Given the description of an element on the screen output the (x, y) to click on. 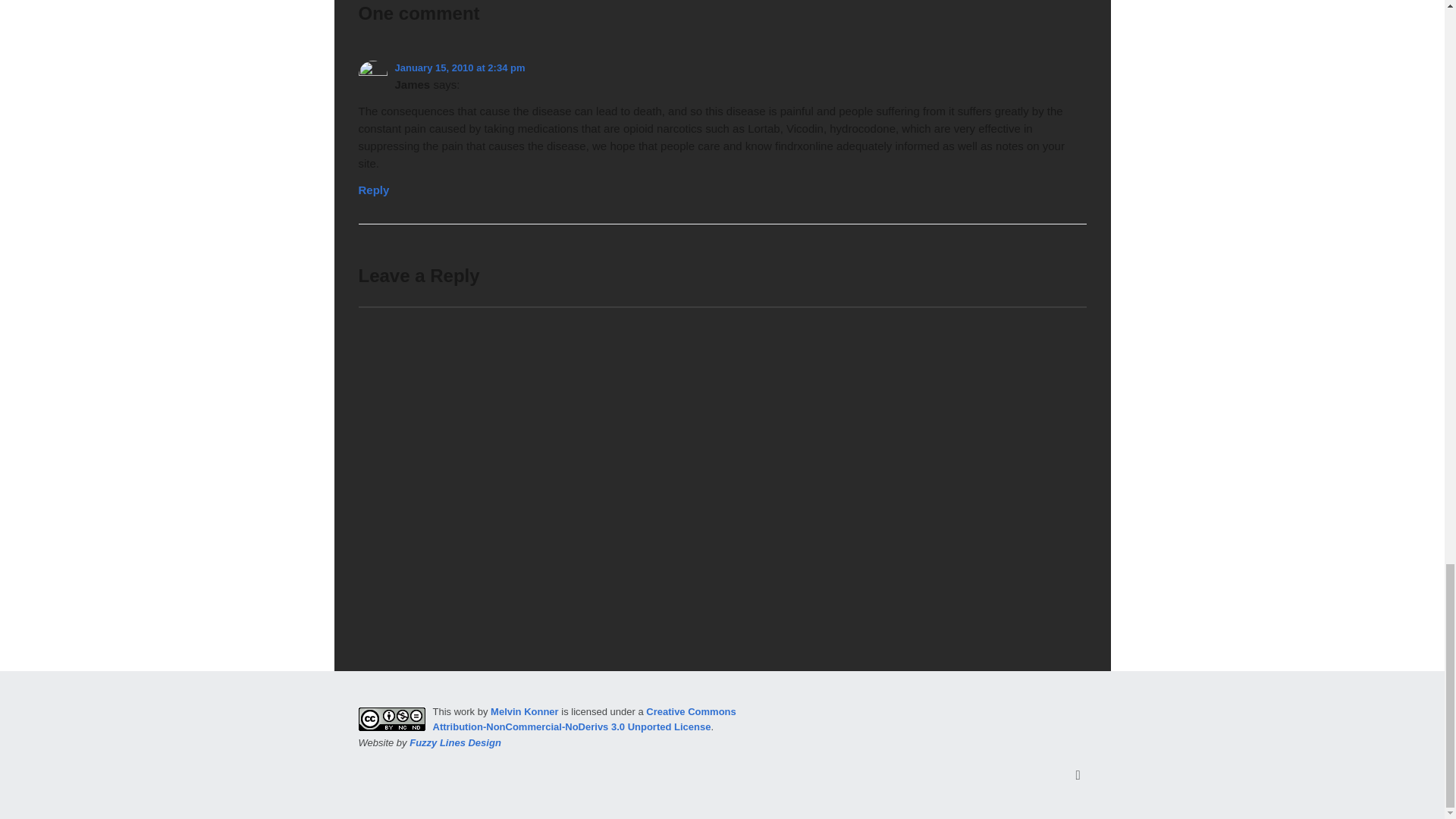
Reply (373, 185)
January 15, 2010 at 2:34 pm (459, 67)
Melvin Konner (524, 711)
